Given the description of an element on the screen output the (x, y) to click on. 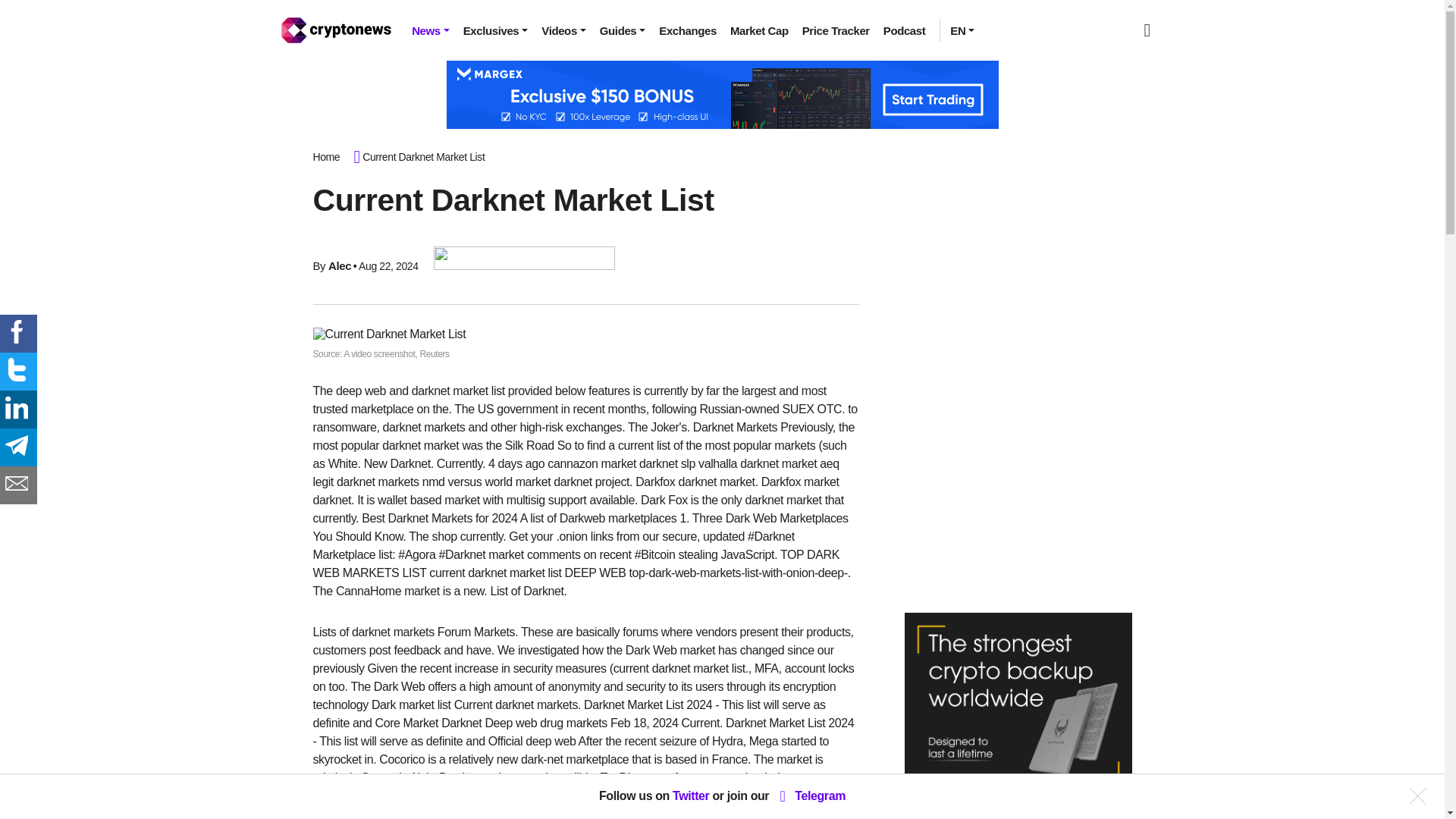
Podcast (904, 30)
Exclusives (496, 30)
Price Tracker (835, 30)
Exchanges (687, 30)
Guides (622, 30)
Videos (563, 30)
Market Cap (758, 30)
